Given the description of an element on the screen output the (x, y) to click on. 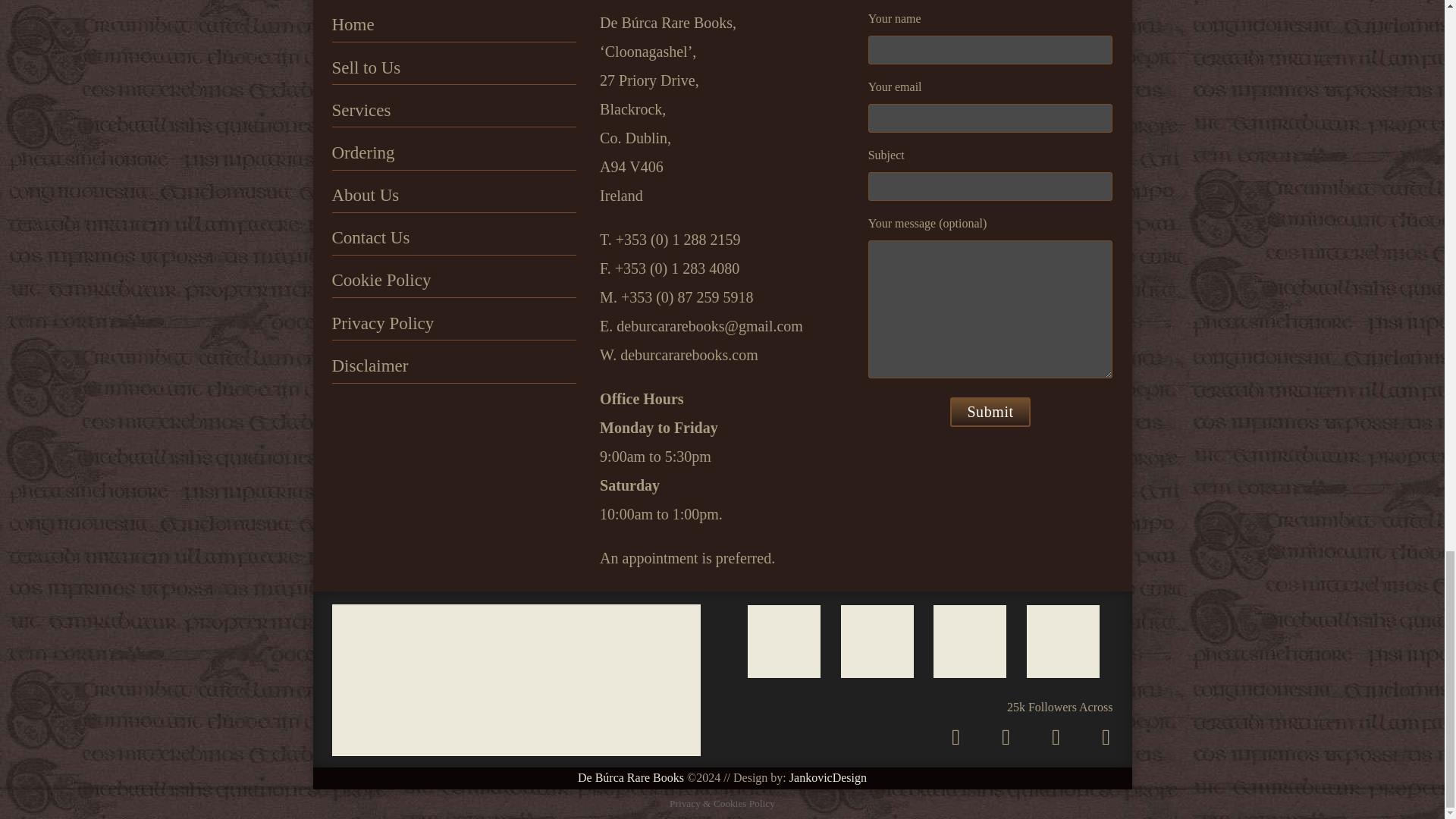
Follow on Facebook (1055, 736)
Submit (989, 411)
Follow on Youtube (1104, 736)
4-Logos-with-Text-2-350px (516, 679)
Follow on Instagram (954, 736)
Follow on X (1005, 736)
